Given the description of an element on the screen output the (x, y) to click on. 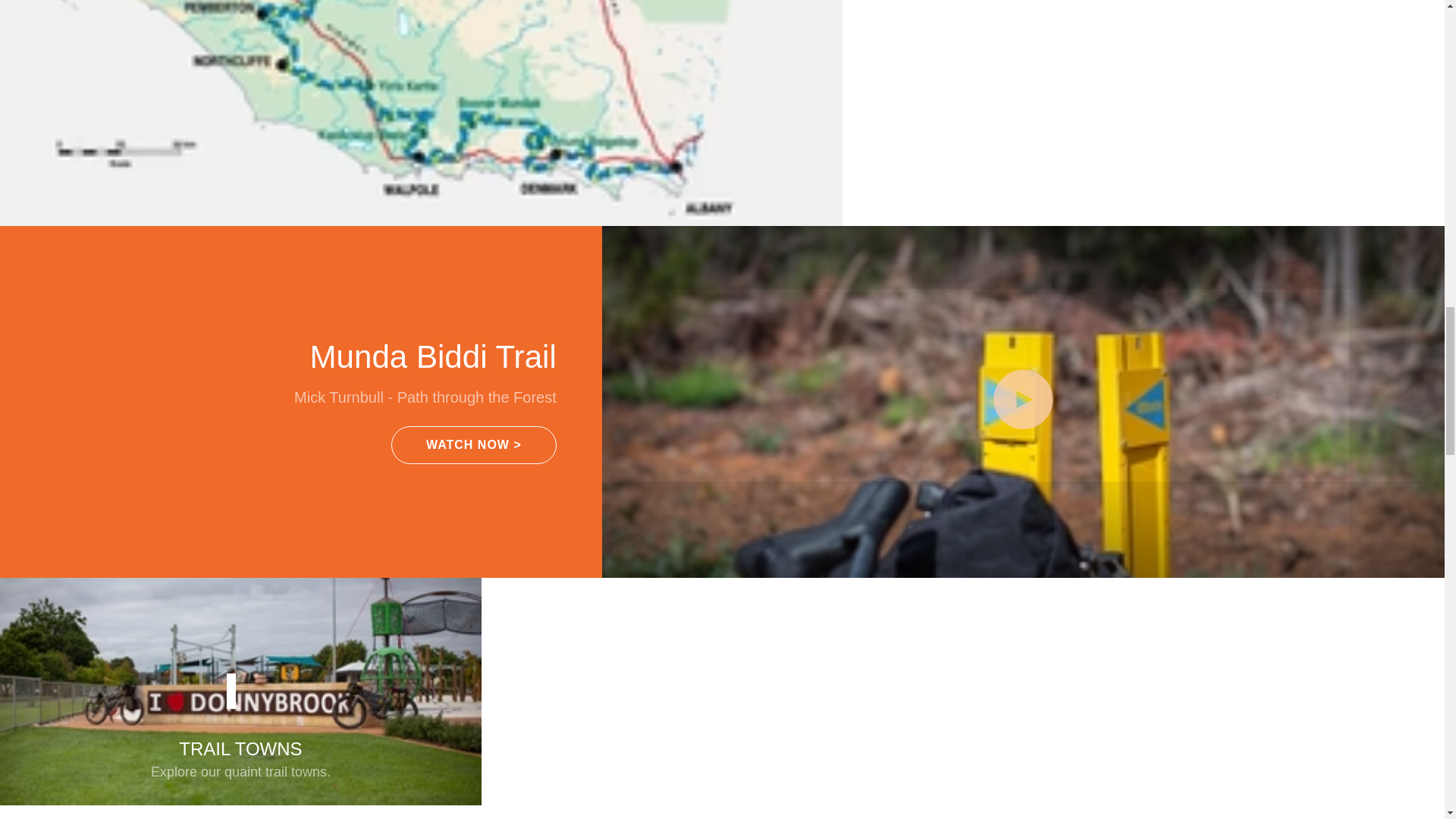
Trail Towns (240, 691)
Events (721, 691)
Get the Latest Munda Biddi Gear (721, 812)
